Given the description of an element on the screen output the (x, y) to click on. 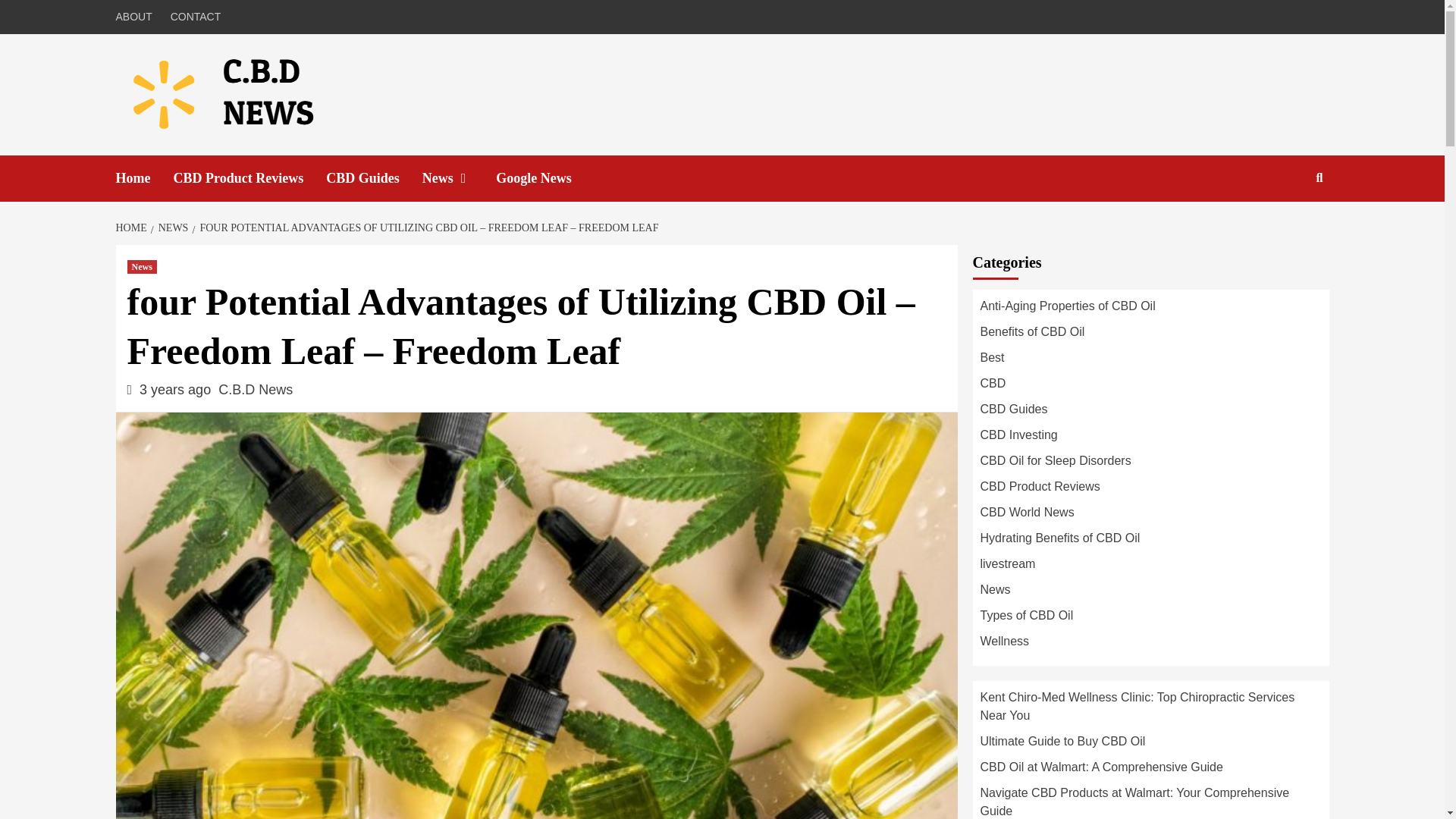
CBD Guides (374, 178)
HOME (132, 227)
News (459, 178)
NEWS (171, 227)
Google News (545, 178)
Search (1319, 177)
CBD Product Reviews (249, 178)
C.B.D News (255, 389)
Search (1283, 226)
Home (144, 178)
CONTACT (195, 17)
News (142, 266)
ABOUT (136, 17)
